Given the description of an element on the screen output the (x, y) to click on. 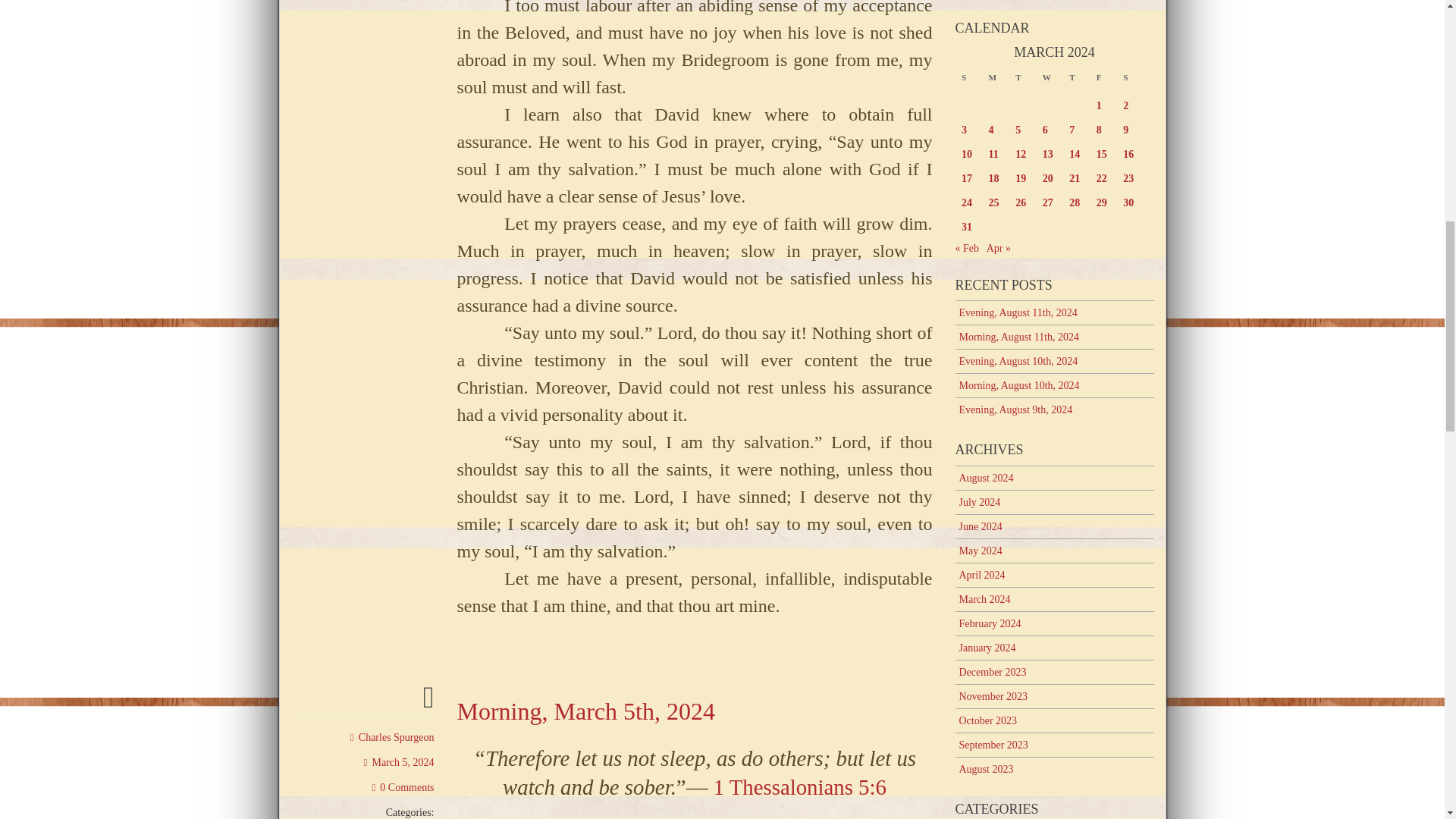
Morning, March 5th, 2024 (585, 710)
Tuesday (1027, 81)
Permalink to Morning, March 5th, 2024 (428, 704)
Permalink to Morning, March 5th, 2024 (398, 762)
Permalink to Morning, March 5th, 2024 (585, 710)
Thursday (1080, 81)
1 Thessalonians 5:6 (796, 786)
Go to comment section (402, 787)
Wednesday (1054, 81)
Sunday (973, 81)
